Given the description of an element on the screen output the (x, y) to click on. 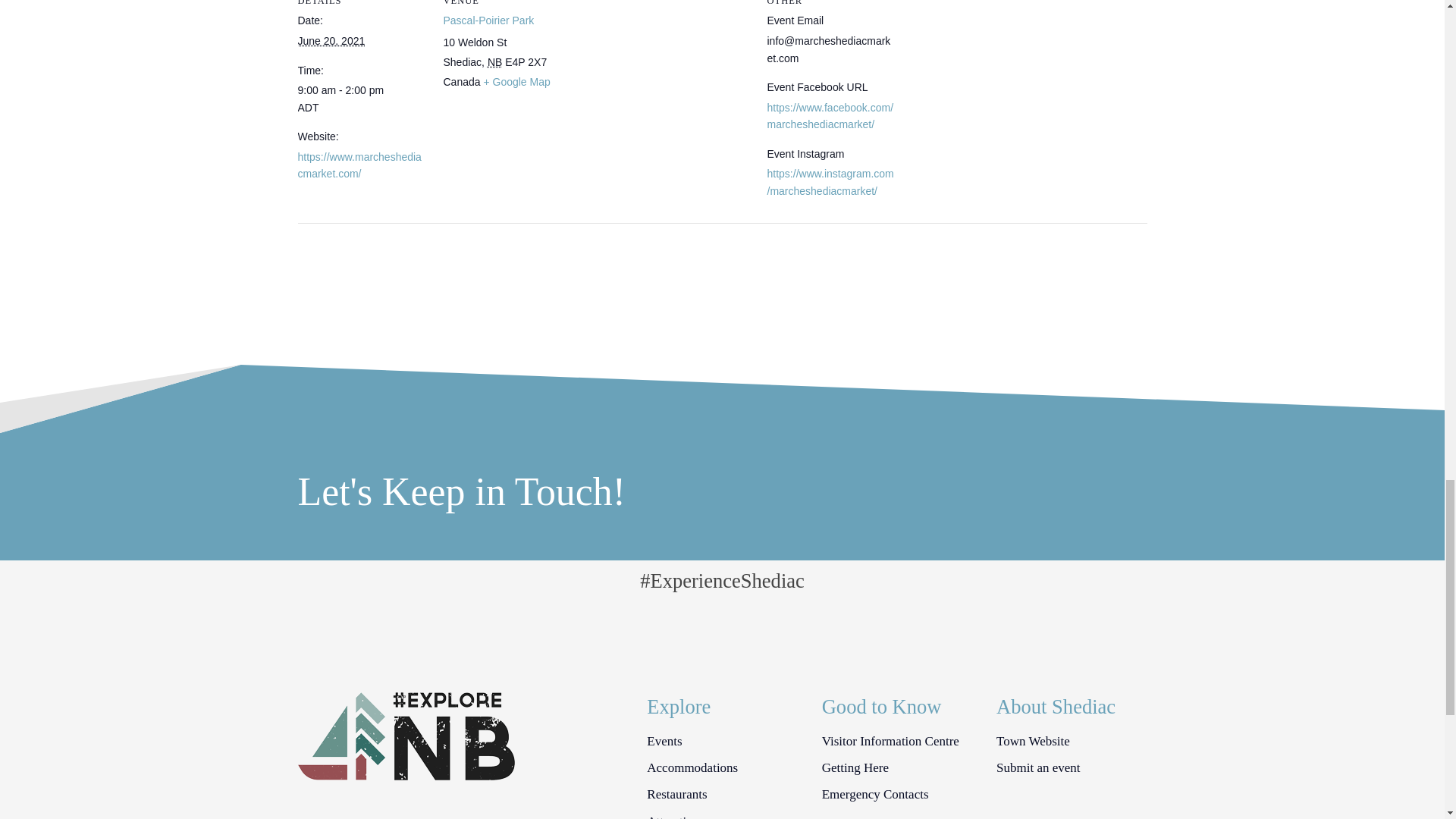
Accommodations (692, 767)
Click to view a Google Map (516, 81)
2021-06-20 (331, 40)
2021-06-20 (361, 98)
Pascal-Poirier Park (488, 20)
NB (494, 61)
Events (663, 741)
